Given the description of an element on the screen output the (x, y) to click on. 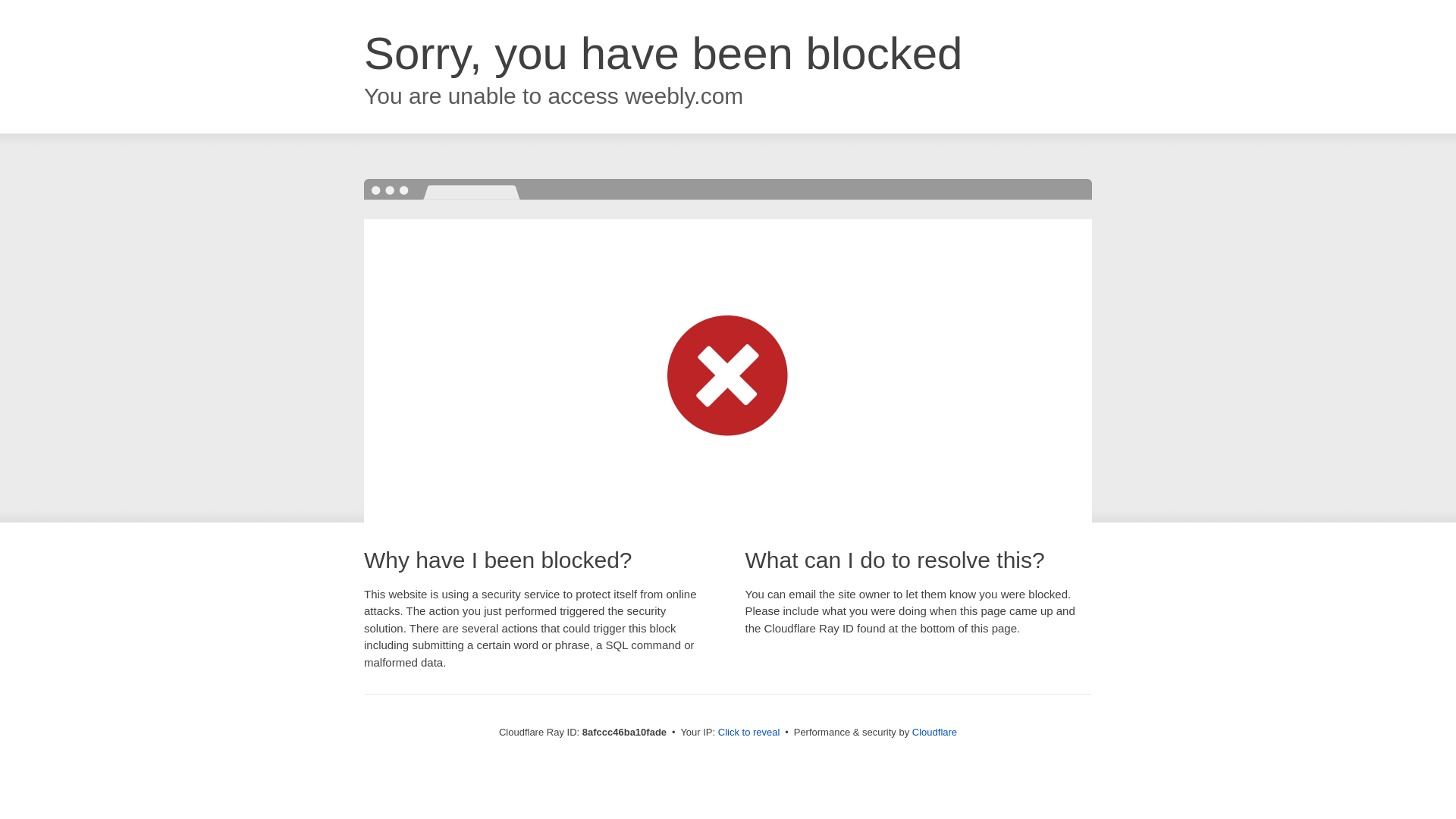
Cloudflare (934, 731)
Click to reveal (748, 732)
